Given the description of an element on the screen output the (x, y) to click on. 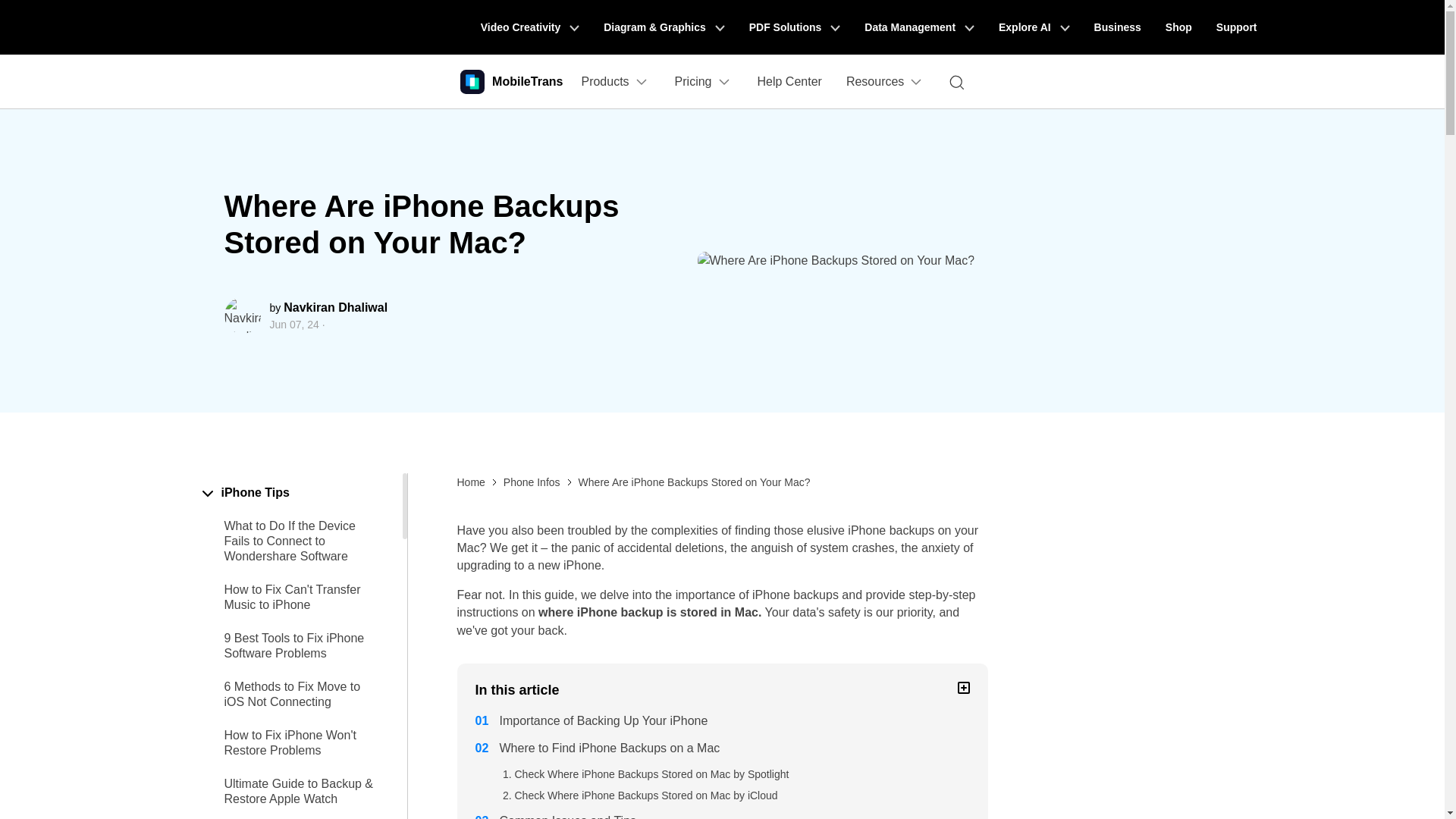
Explore AI (1034, 27)
Video Creativity (529, 27)
PDF Solutions (794, 27)
Data Management (919, 27)
